Given the description of an element on the screen output the (x, y) to click on. 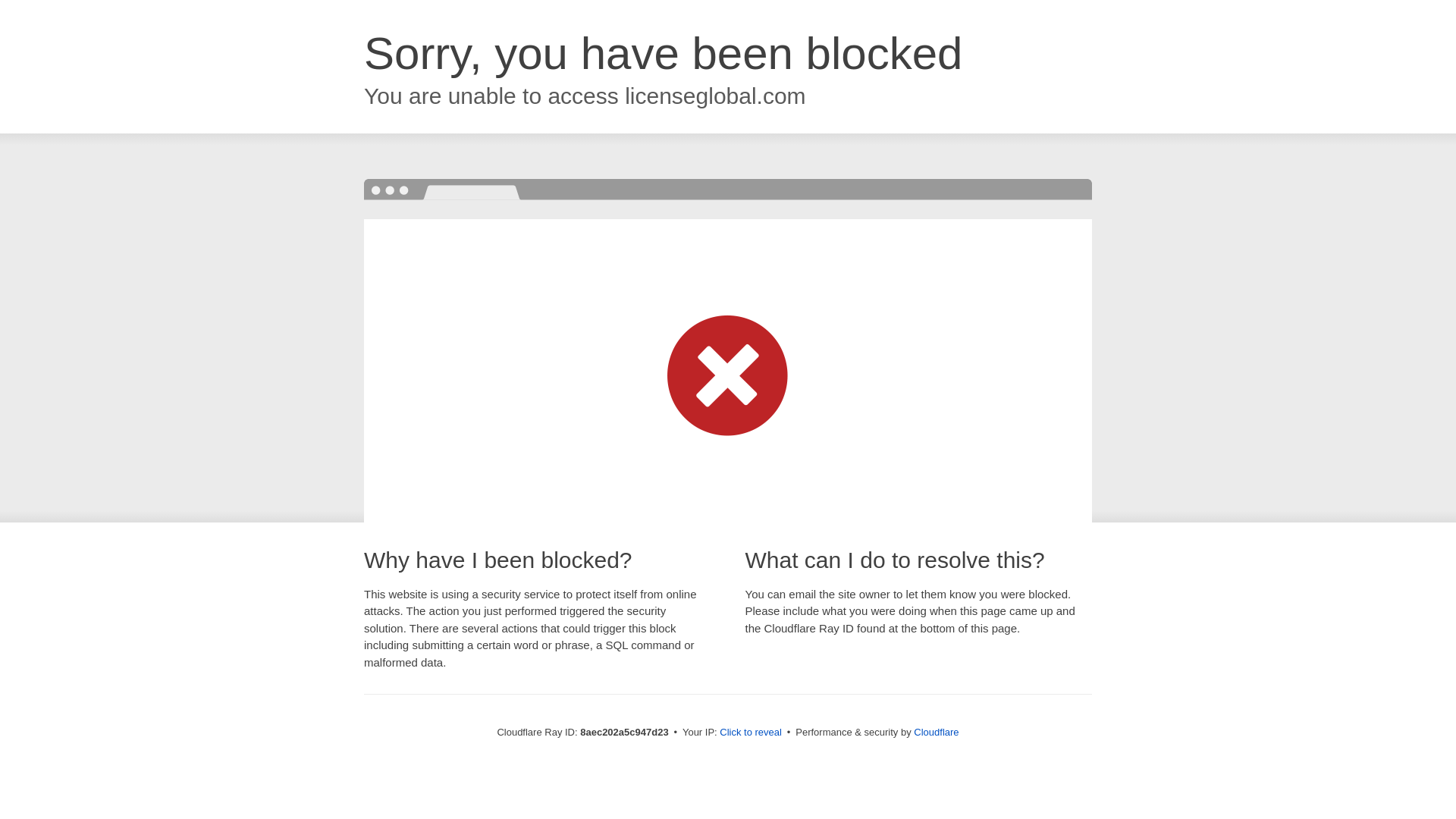
Click to reveal (750, 732)
Cloudflare (936, 731)
